Given the description of an element on the screen output the (x, y) to click on. 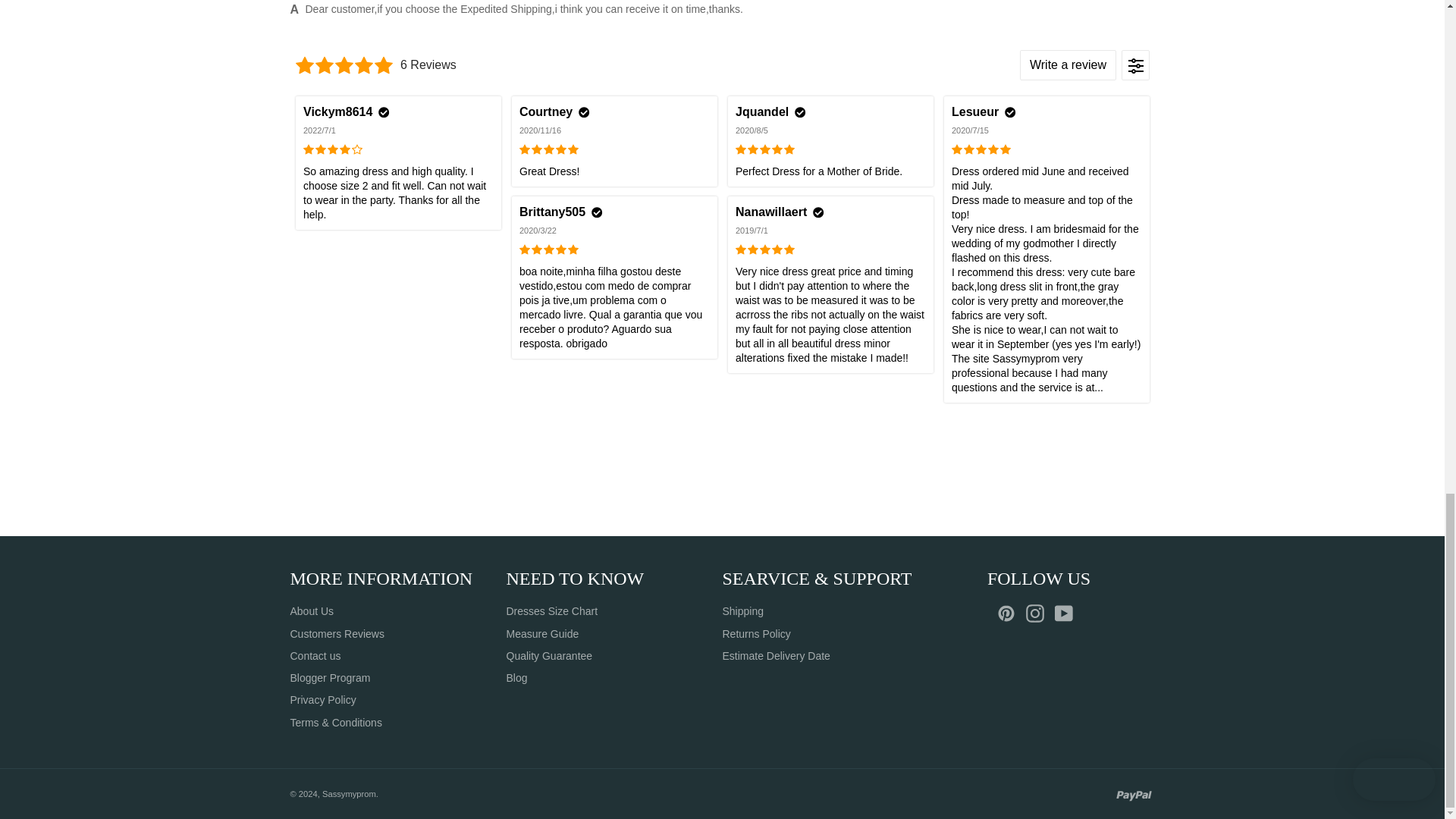
Sassymyprom on YouTube (1067, 613)
Sassymyprom on Instagram (1038, 613)
Sassymyprom on Pinterest (1010, 613)
